Given the description of an element on the screen output the (x, y) to click on. 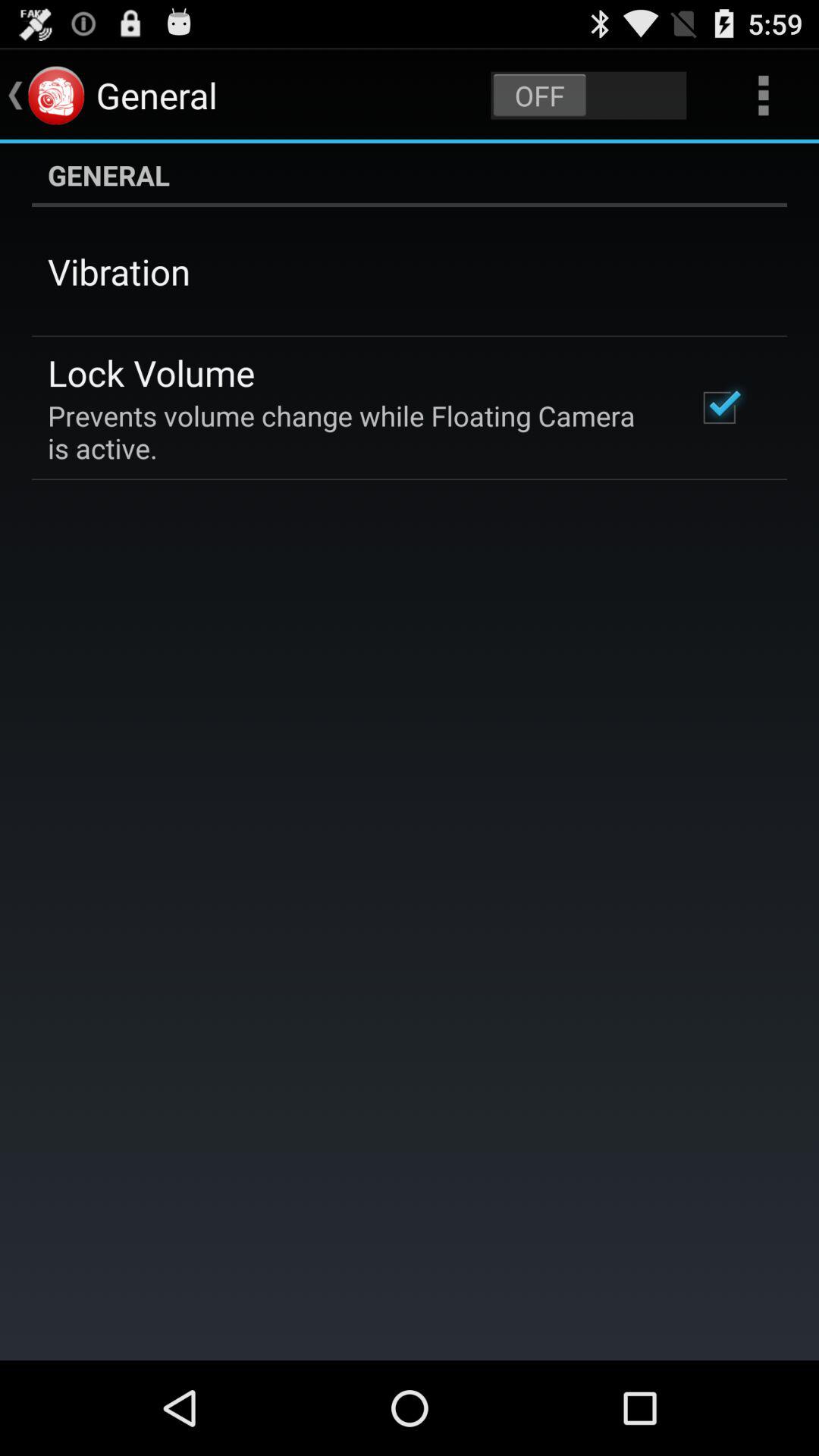
choose icon next to the general app (588, 95)
